Given the description of an element on the screen output the (x, y) to click on. 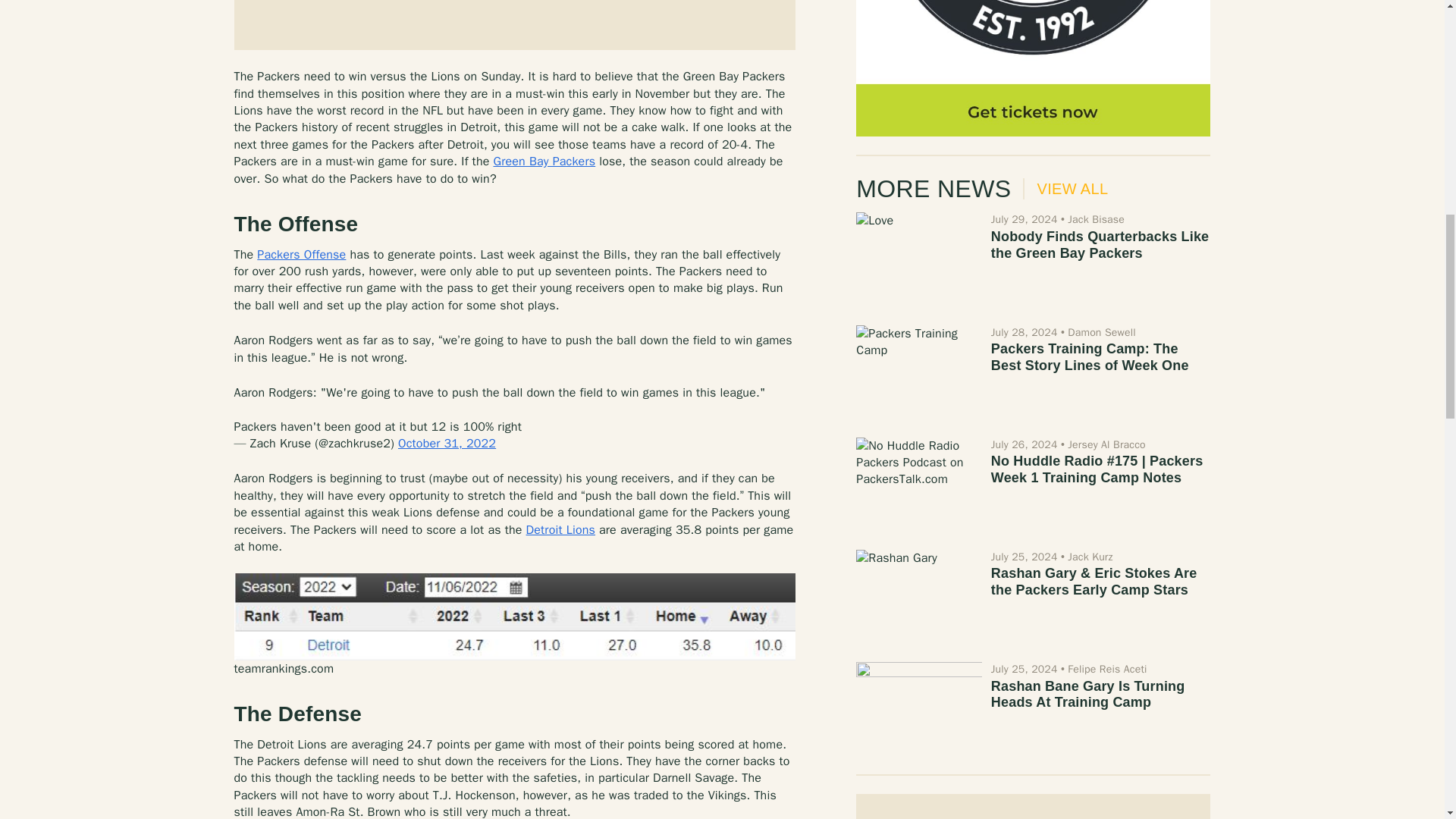
Packers Offense (301, 254)
Damon Sewell (1101, 332)
VIEW ALL (1065, 188)
Packers Training Camp: The Best Story Lines of Week One (918, 372)
Green Bay Packers (544, 160)
Packers Training Camp: The Best Story Lines of Week One (1090, 357)
Nobody Finds Quarterbacks Like the Green Bay Packers (1099, 245)
Nobody Finds Quarterbacks Like the Green Bay Packers (918, 259)
Green Bay Packers (544, 160)
Packers Training Camp: The Best Story Lines of Week One (1090, 357)
Nobody Finds Quarterbacks Like the Green Bay Packers (1099, 245)
Jack Bisase (1095, 219)
Detroit Lions (560, 529)
October 31, 2022 (446, 443)
Packers Offense (301, 254)
